Given the description of an element on the screen output the (x, y) to click on. 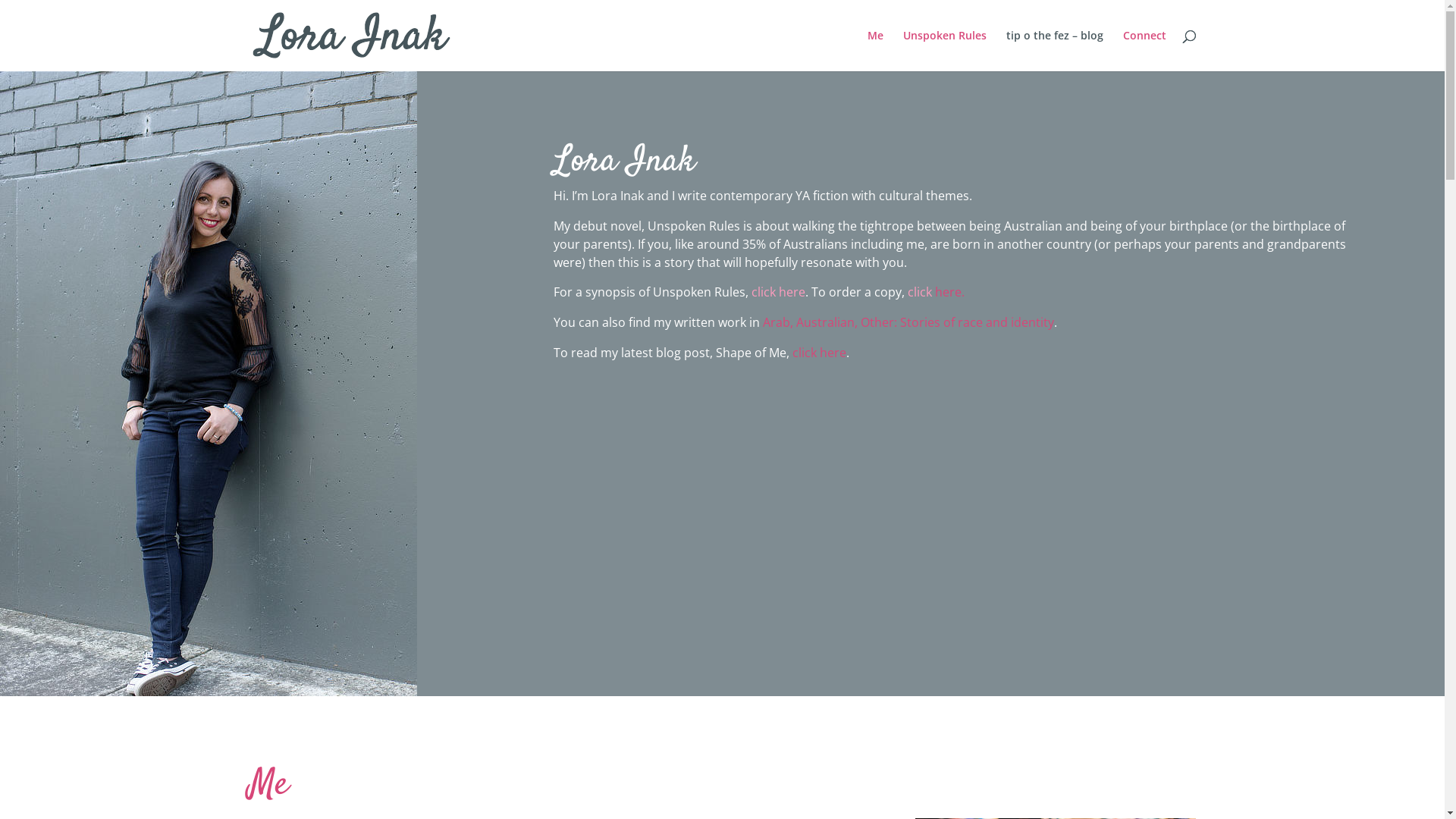
Unspoken Rules Element type: text (943, 50)
click here Element type: text (819, 352)
here. Element type: text (949, 291)
Connect Element type: text (1143, 50)
click Element type: text (919, 291)
click here Element type: text (778, 291)
Me Element type: text (875, 50)
Arab, Australian, Other: Stories of race and identity Element type: text (908, 321)
